Given the description of an element on the screen output the (x, y) to click on. 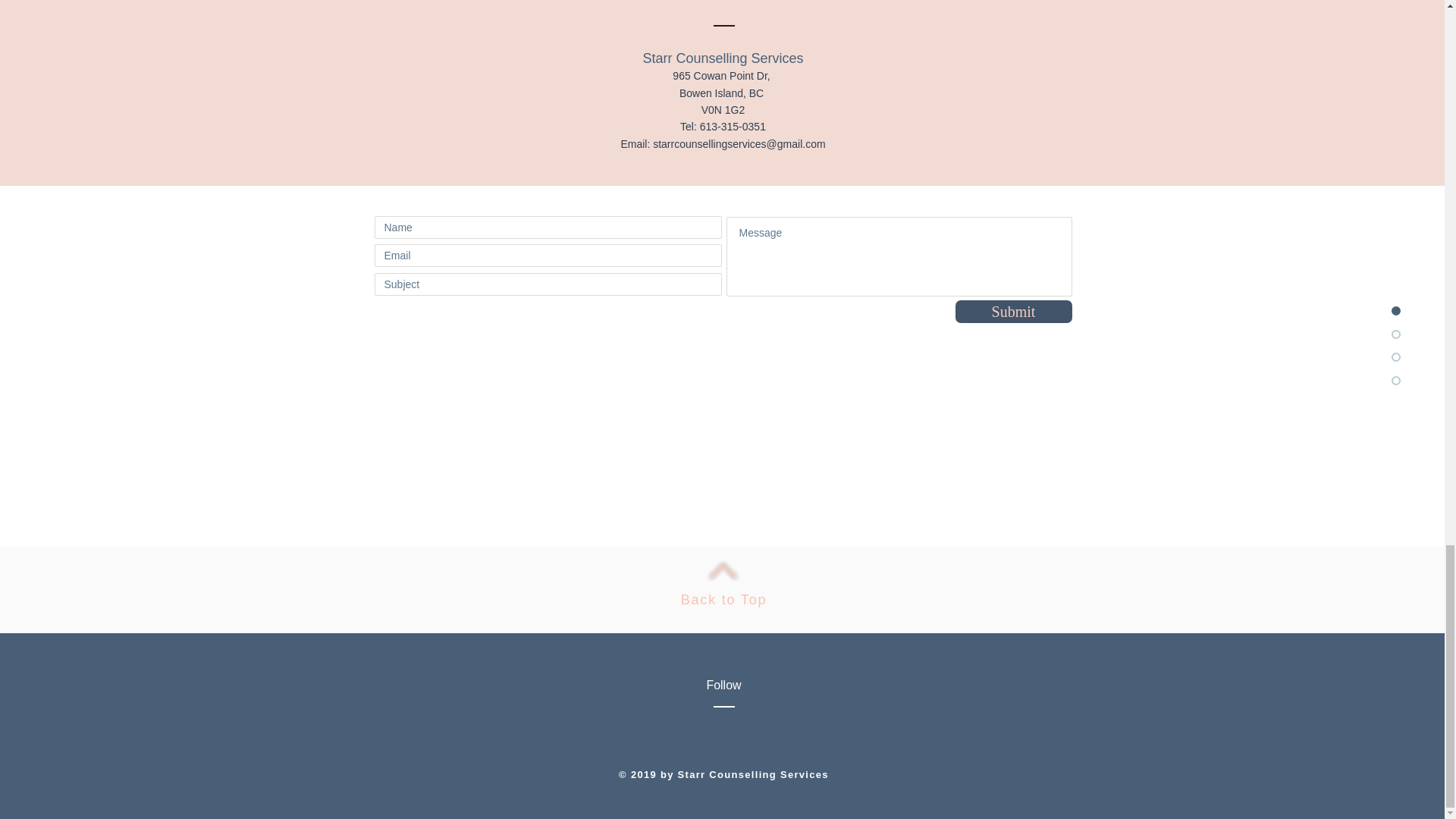
Google Maps (721, 454)
Submit (1013, 311)
Back to Top (724, 599)
